Given the description of an element on the screen output the (x, y) to click on. 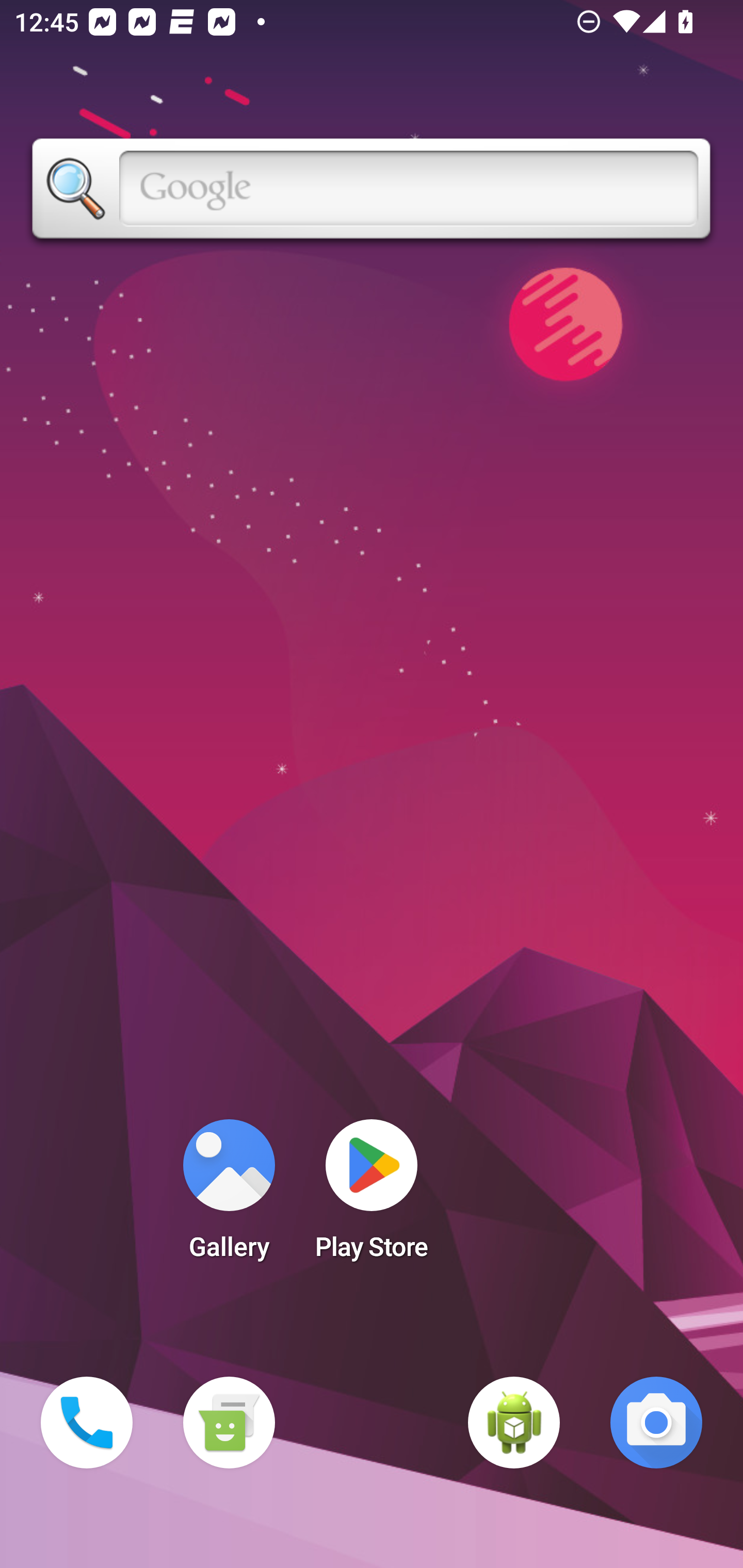
Gallery (228, 1195)
Play Store (371, 1195)
Phone (86, 1422)
Messaging (228, 1422)
WebView Browser Tester (513, 1422)
Camera (656, 1422)
